Given the description of an element on the screen output the (x, y) to click on. 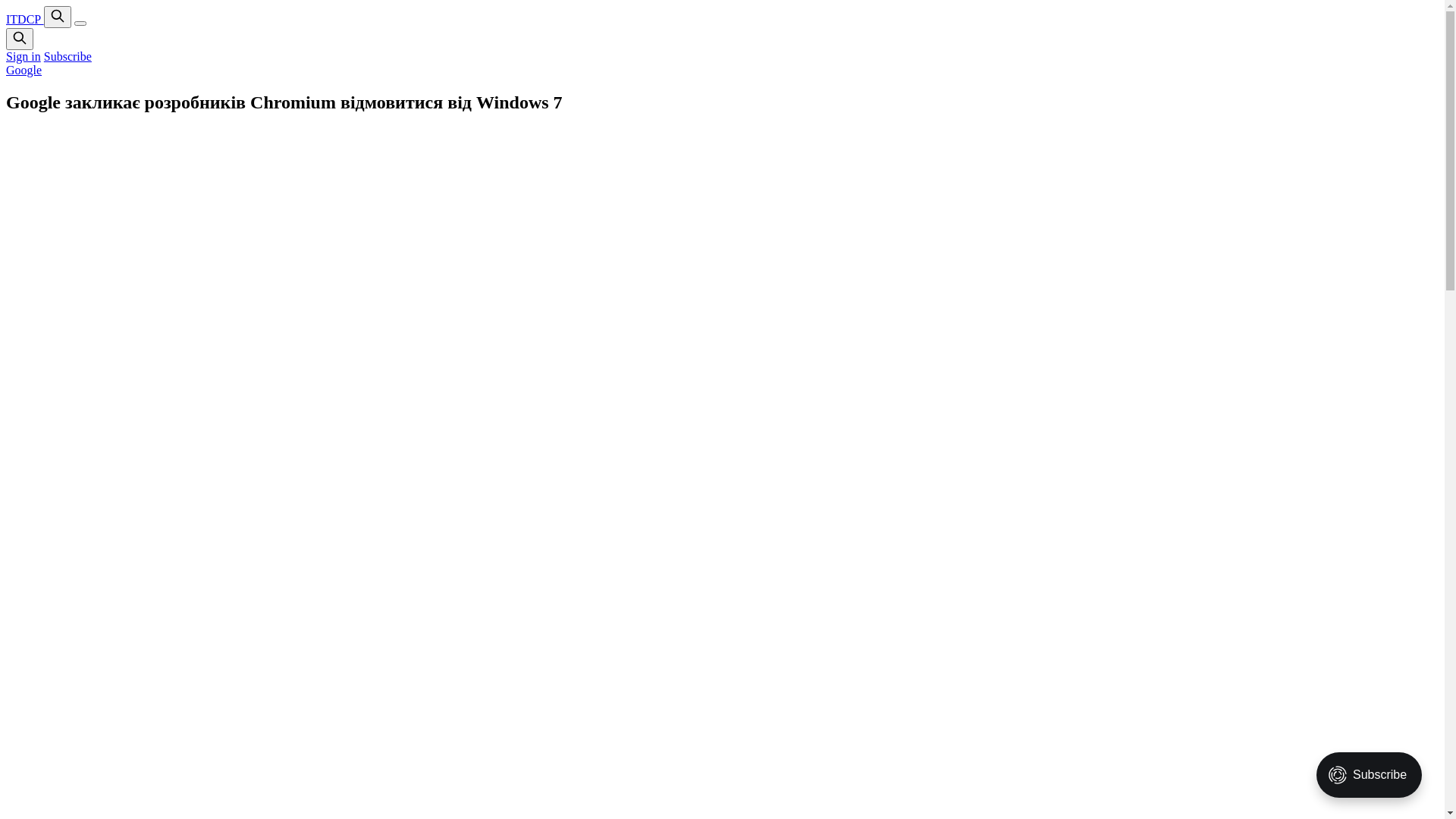
Sign in Element type: text (23, 56)
Google Element type: text (23, 69)
ITDCP Element type: text (24, 18)
Subscribe Element type: text (67, 56)
